Given the description of an element on the screen output the (x, y) to click on. 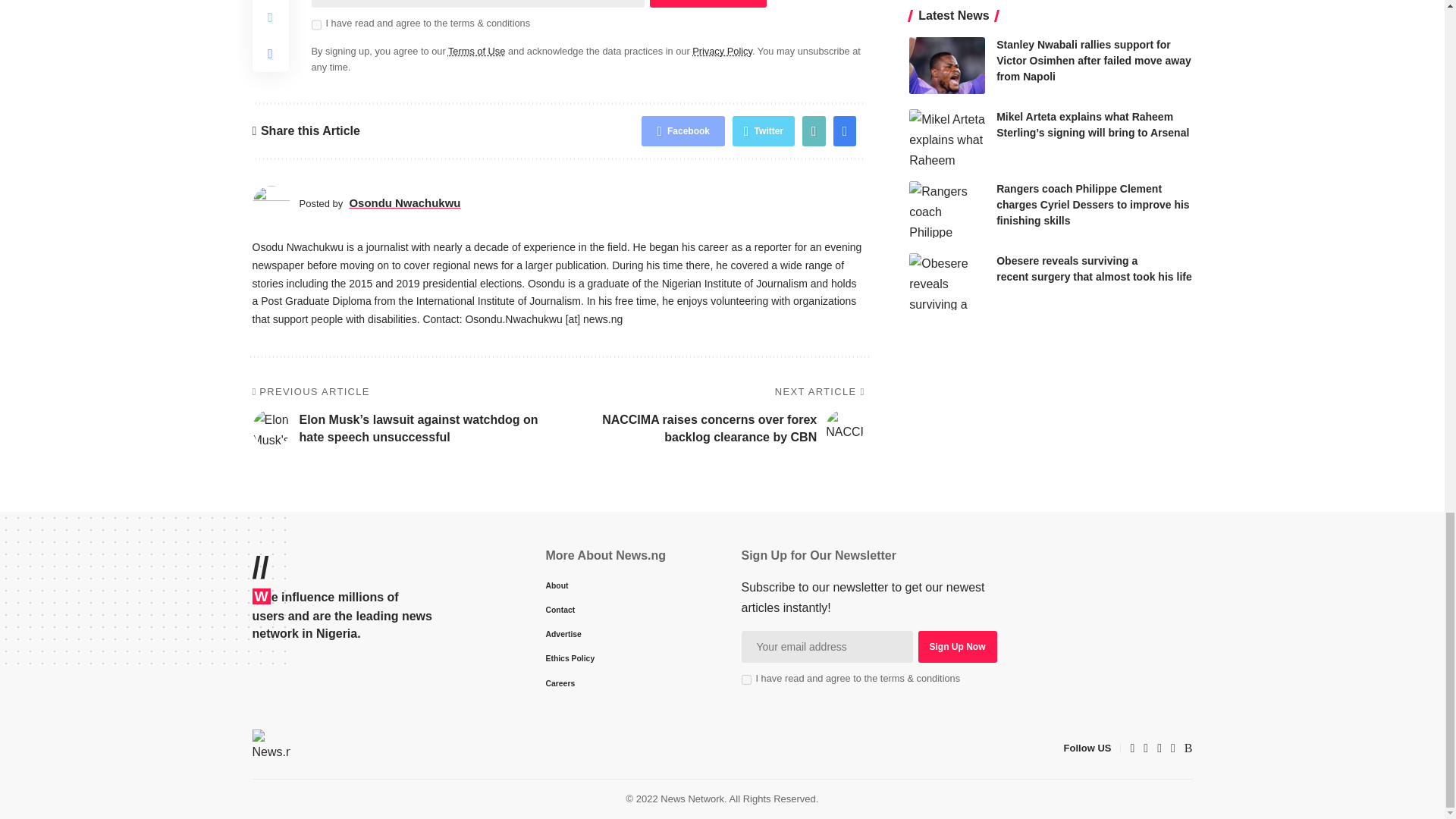
Sign Up Now (707, 3)
News.ng (270, 748)
Sign Up Now (956, 646)
